Given the description of an element on the screen output the (x, y) to click on. 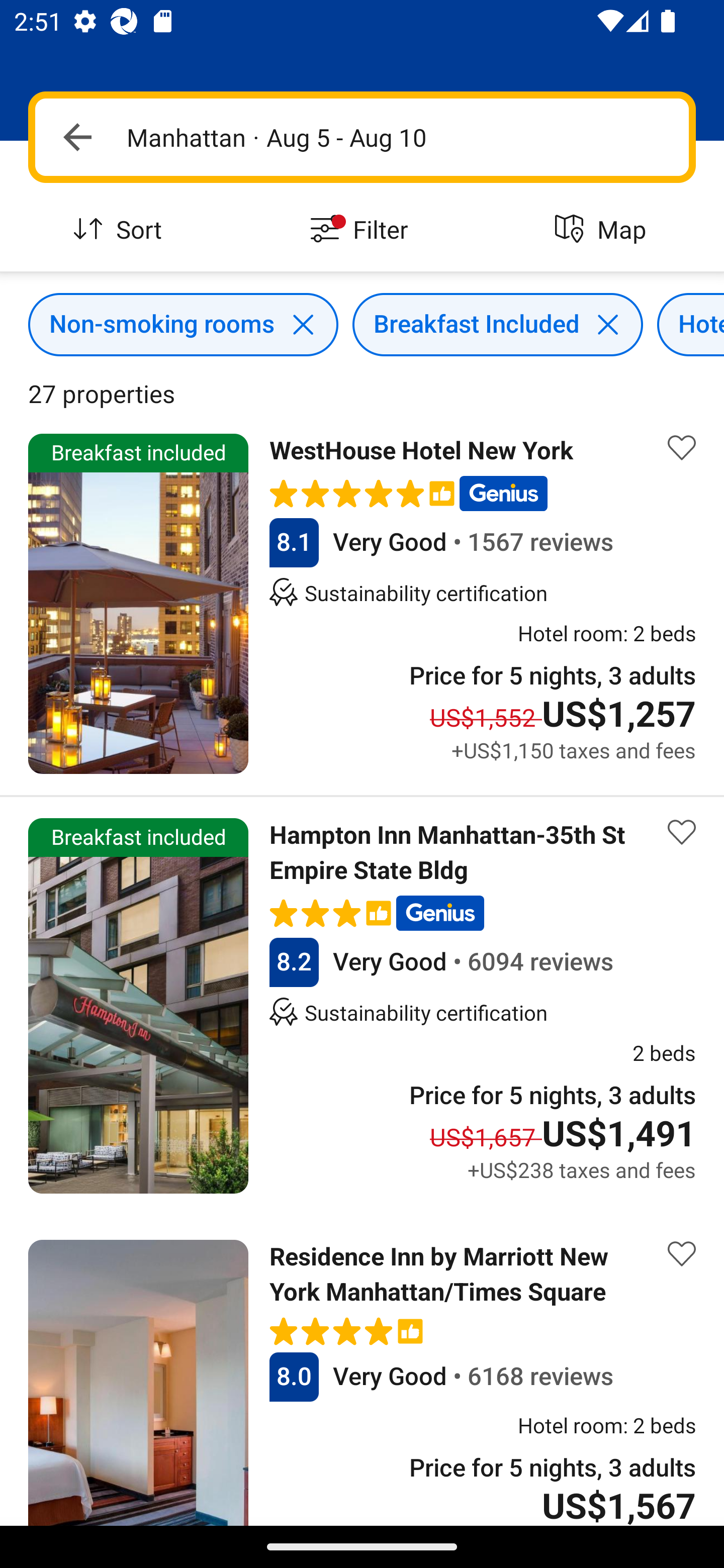
Navigate up Manhattan · Aug 5 - Aug 10 (362, 136)
Navigate up (77, 136)
Sort (120, 230)
Filter (361, 230)
Map (603, 230)
Save property to list (681, 447)
Save property to list (681, 832)
Save property to list (681, 1254)
